Given the description of an element on the screen output the (x, y) to click on. 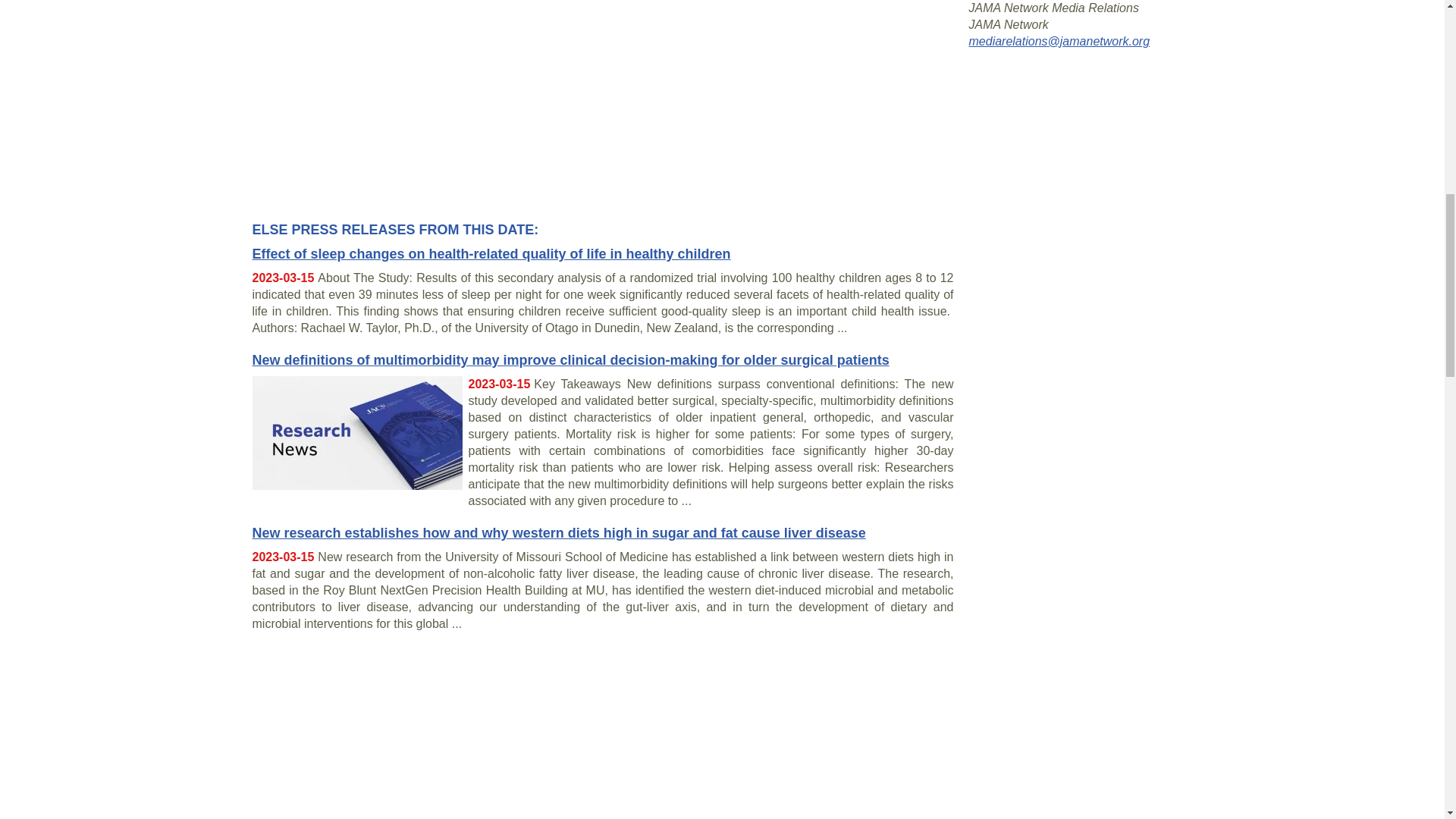
Advertisement (602, 729)
